Given the description of an element on the screen output the (x, y) to click on. 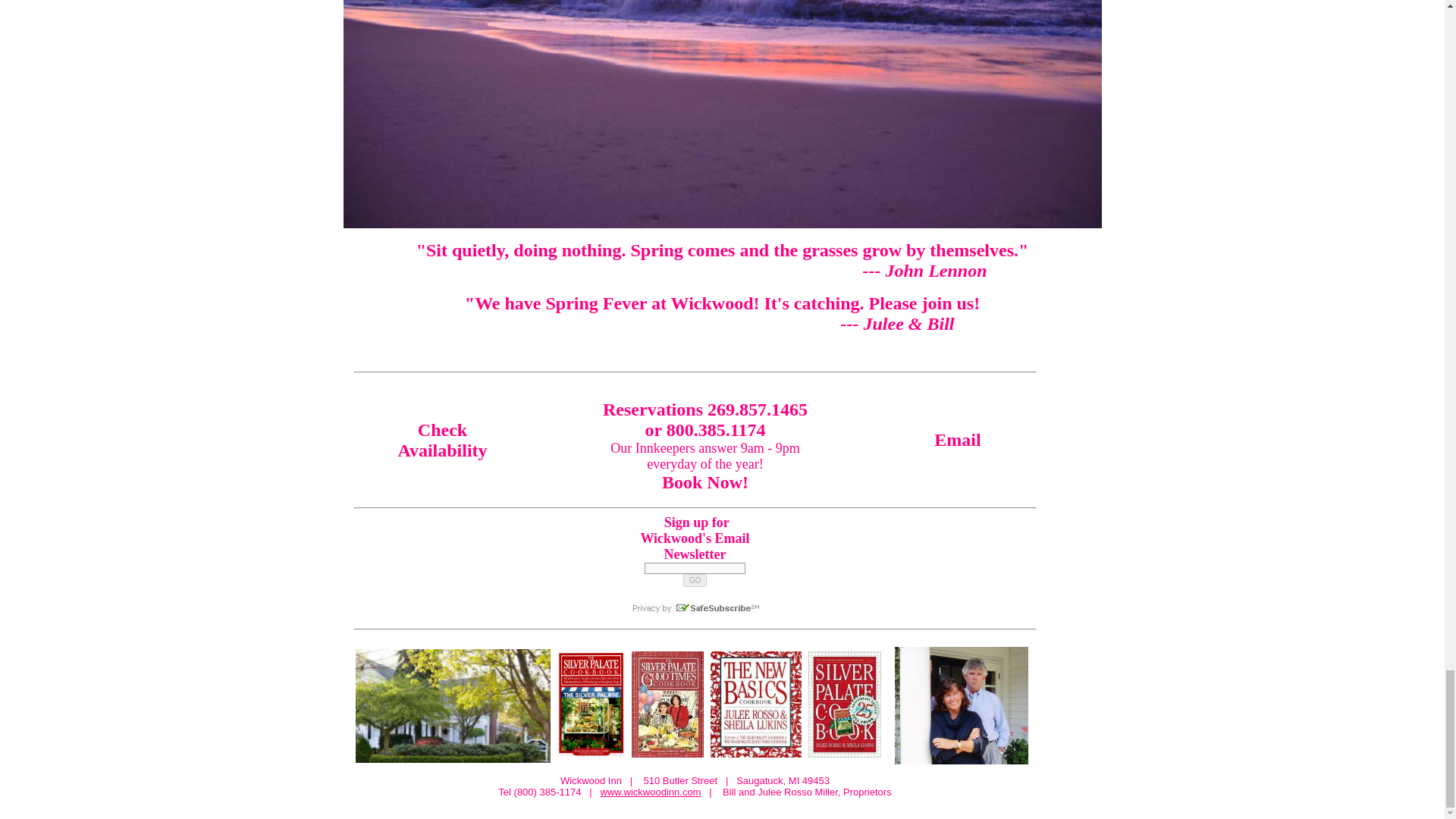
Email (956, 439)
www.wickwoodinn.com (650, 791)
GO (694, 580)
Check (442, 428)
GO (694, 580)
Availability (441, 450)
Book Now! (705, 482)
